Given the description of an element on the screen output the (x, y) to click on. 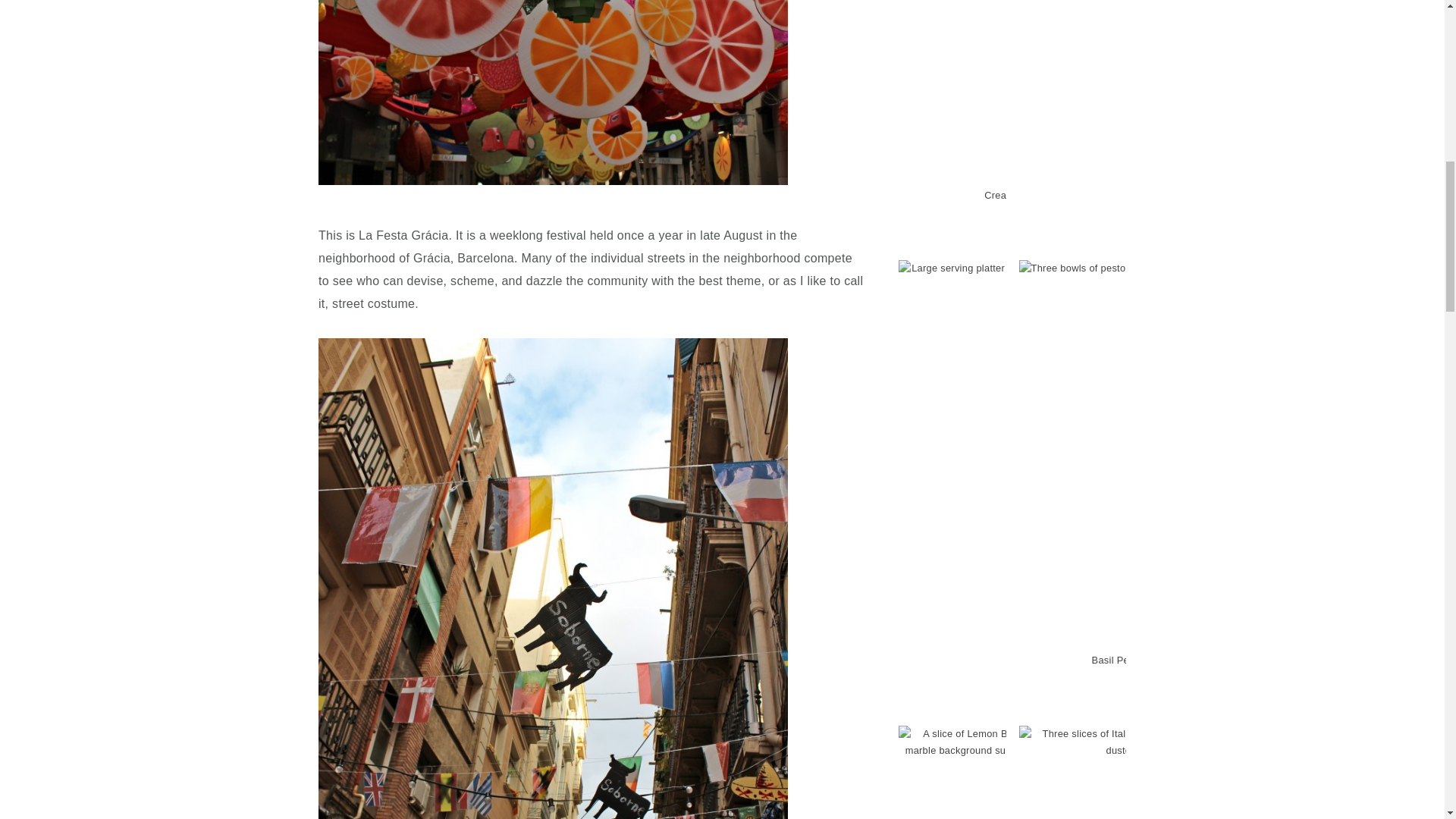
Lemon Blueberry Olive Oil Cake (1088, 772)
Creamy Pesto Gnocchi with Peas and Carrots (1088, 108)
Italian Olive Oil Cake (1208, 772)
Hot Honey Lemon Pepper Wings (1208, 108)
